Given the description of an element on the screen output the (x, y) to click on. 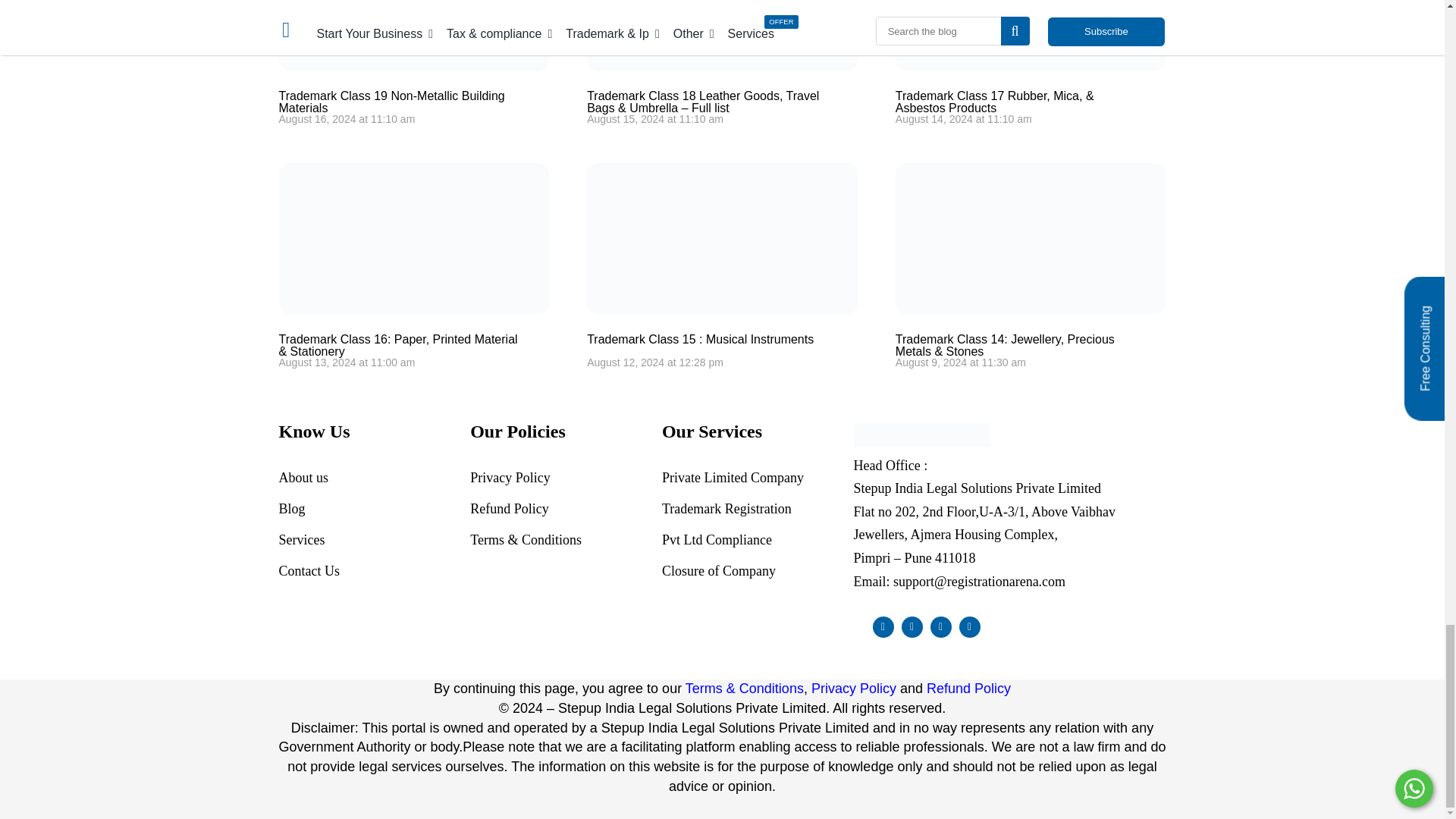
LinkedIn (941, 627)
YouTube (969, 627)
Twitter (912, 627)
Facebook (882, 627)
